Given the description of an element on the screen output the (x, y) to click on. 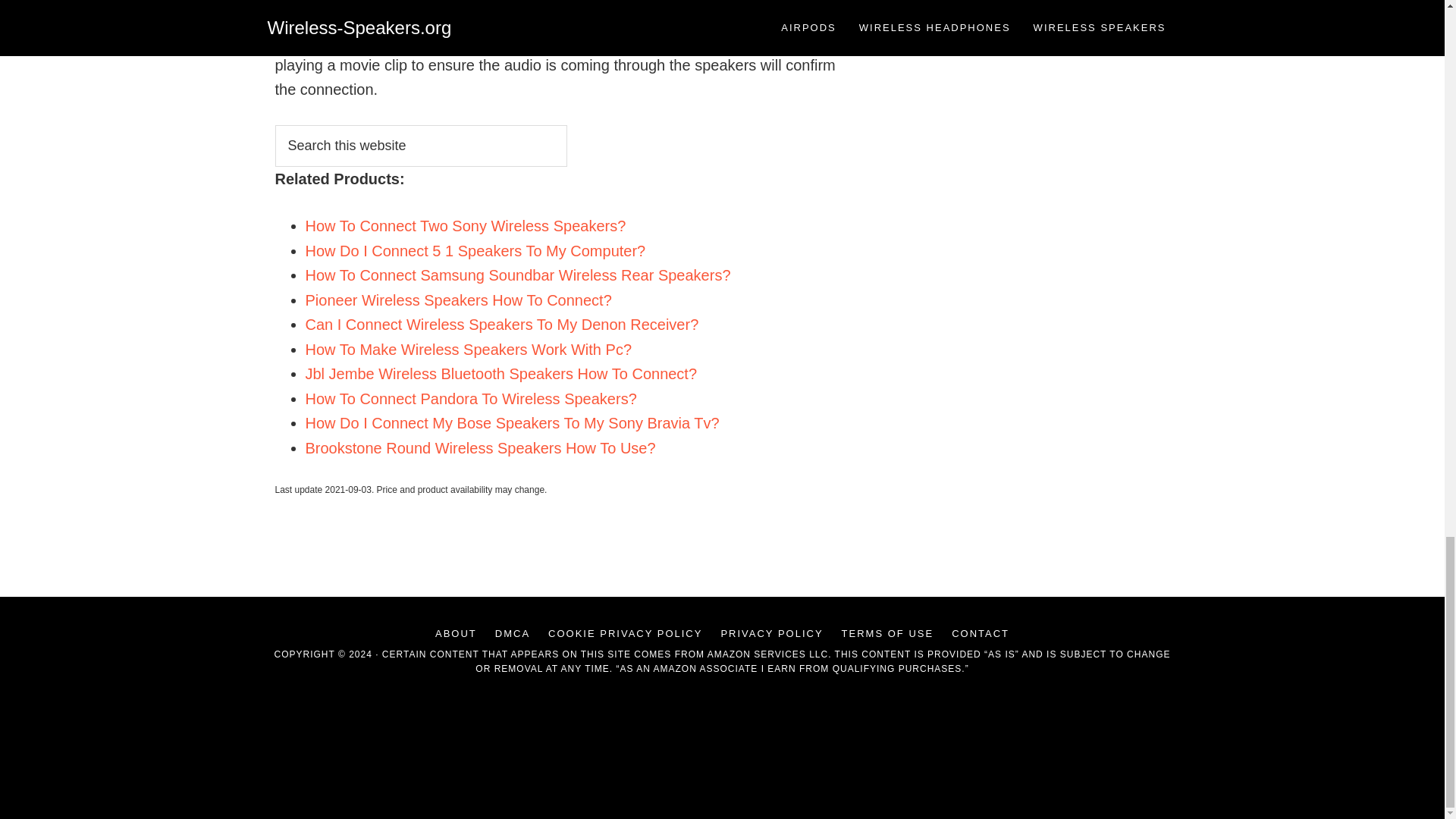
DMCA (512, 633)
How To Connect Pandora To Wireless Speakers? (470, 398)
How Do I Connect 5 1 Speakers To My Computer? (474, 250)
How To Connect Pandora To Wireless Speakers? (470, 398)
TERMS OF USE (887, 633)
Jbl Jembe Wireless Bluetooth Speakers How To Connect? (500, 373)
How To Make Wireless Speakers Work With Pc? (467, 349)
How To Connect Two Sony Wireless Speakers? (465, 225)
Pioneer Wireless Speakers How To Connect? (457, 299)
How Do I Connect My Bose Speakers To My Sony Bravia Tv? (511, 422)
How To Make Wireless Speakers Work With Pc? (467, 349)
How To Connect Samsung Soundbar Wireless Rear Speakers? (517, 274)
DMCA.com Protection Status (721, 785)
Can I Connect Wireless Speakers To My Denon Receiver? (501, 324)
